Given the description of an element on the screen output the (x, y) to click on. 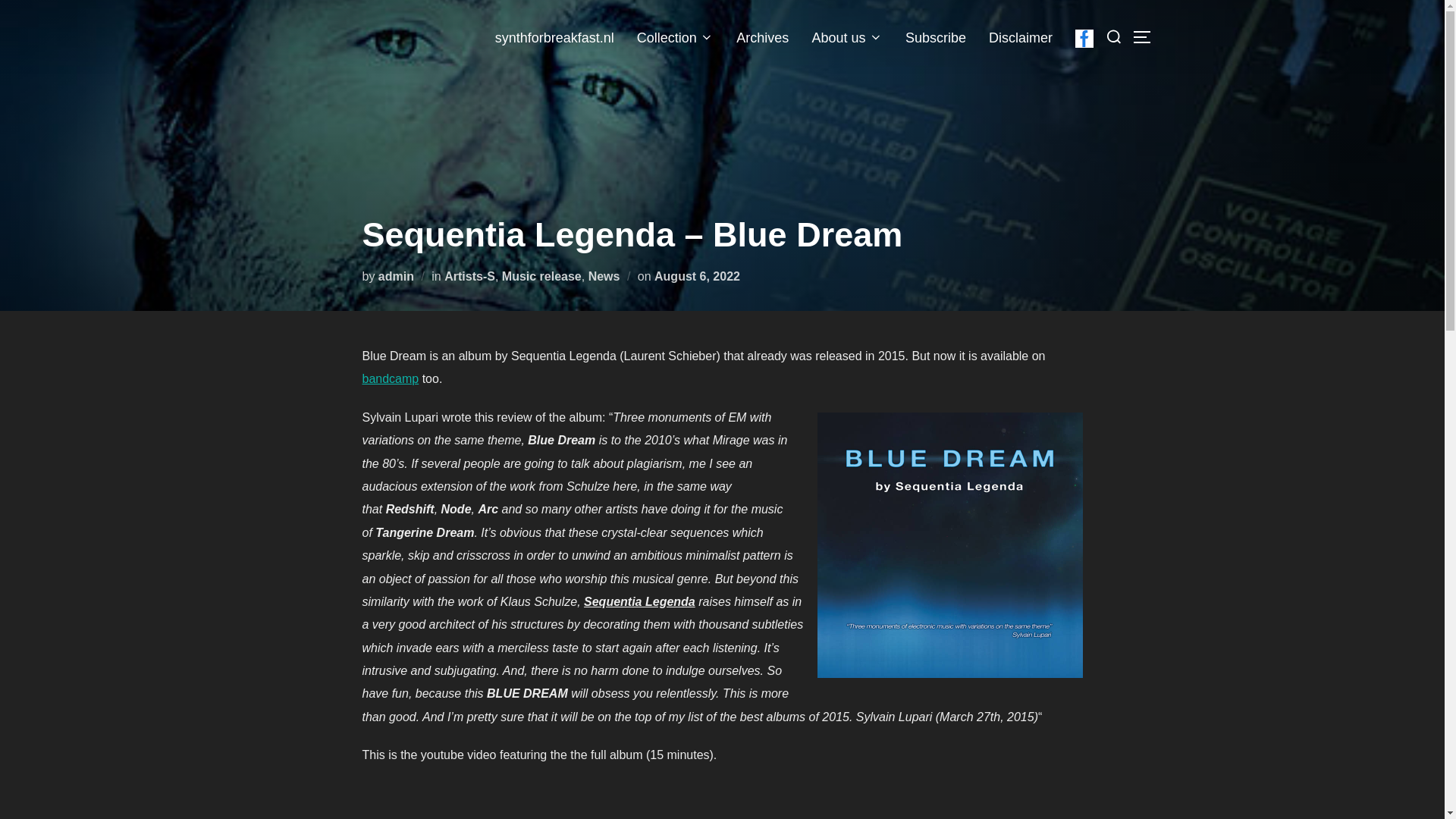
synthforbreakfast.nl (554, 37)
Collection (675, 37)
